Given the description of an element on the screen output the (x, y) to click on. 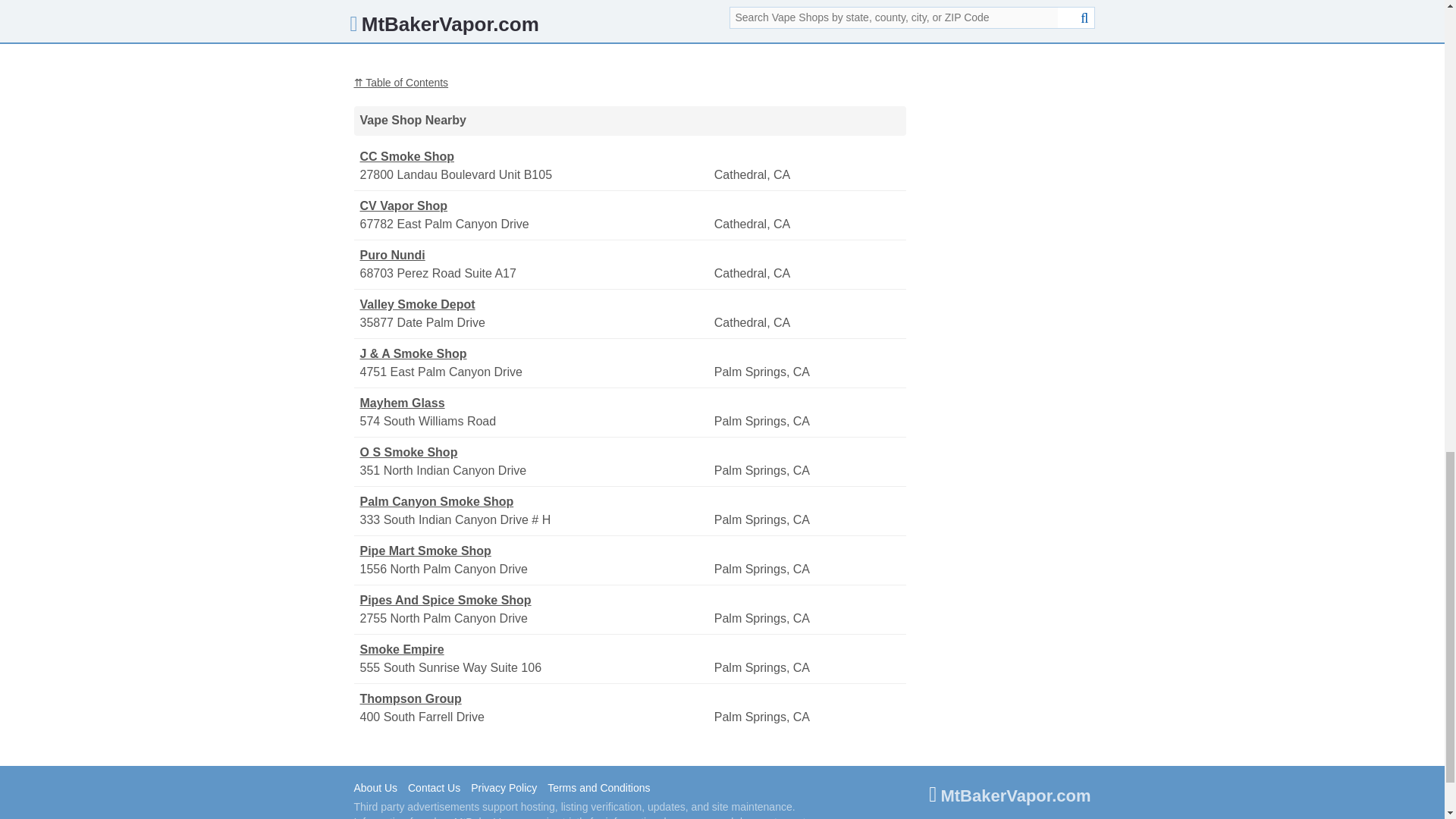
O S Smoke Shop in Palm Springs, California (534, 452)
Thompson Group (534, 699)
Pipe Mart Smoke Shop in Palm Springs, California (534, 551)
Valley Smoke Depot (534, 304)
Mayhem Glass (534, 402)
Pipe Mart Smoke Shop (534, 551)
Puro Nundi in Cathedral, California (534, 255)
Palm Canyon Smoke Shop (534, 502)
CV Vapor Shop (534, 206)
CV Vapor Shop in Cathedral, California (534, 206)
